Given the description of an element on the screen output the (x, y) to click on. 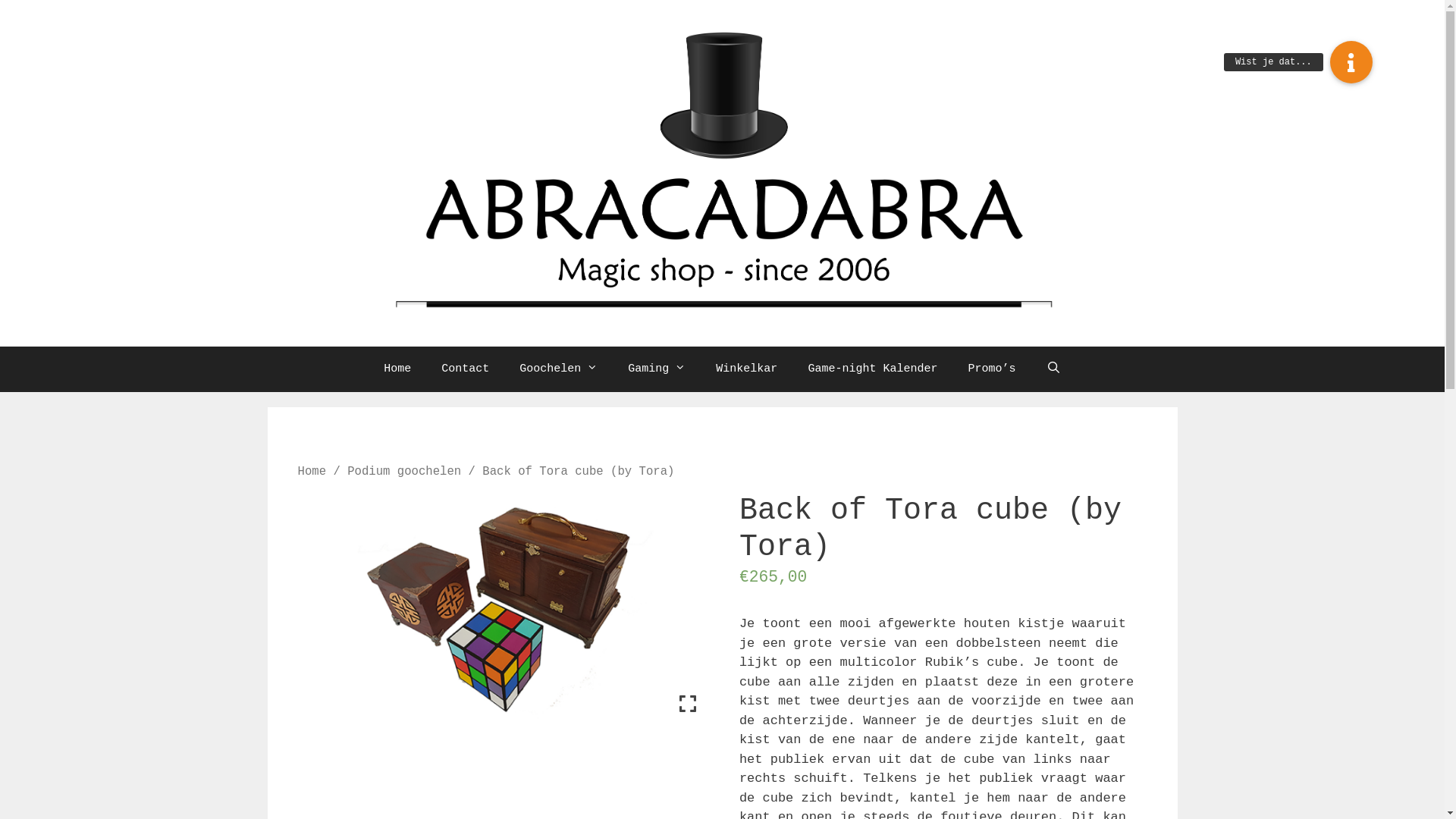
Contact Element type: text (465, 369)
Podium goochelen Element type: text (404, 471)
Home Element type: text (311, 471)
Abracadabra Element type: hover (721, 173)
back of tora cube Element type: hover (501, 606)
Goochelen Element type: text (558, 369)
Game-night Kalender Element type: text (872, 369)
Wist je dat... Element type: text (1351, 61)
Home Element type: text (397, 369)
Gaming Element type: text (656, 369)
Abracadabra Element type: hover (721, 173)
Winkelkar Element type: text (746, 369)
